Given the description of an element on the screen output the (x, y) to click on. 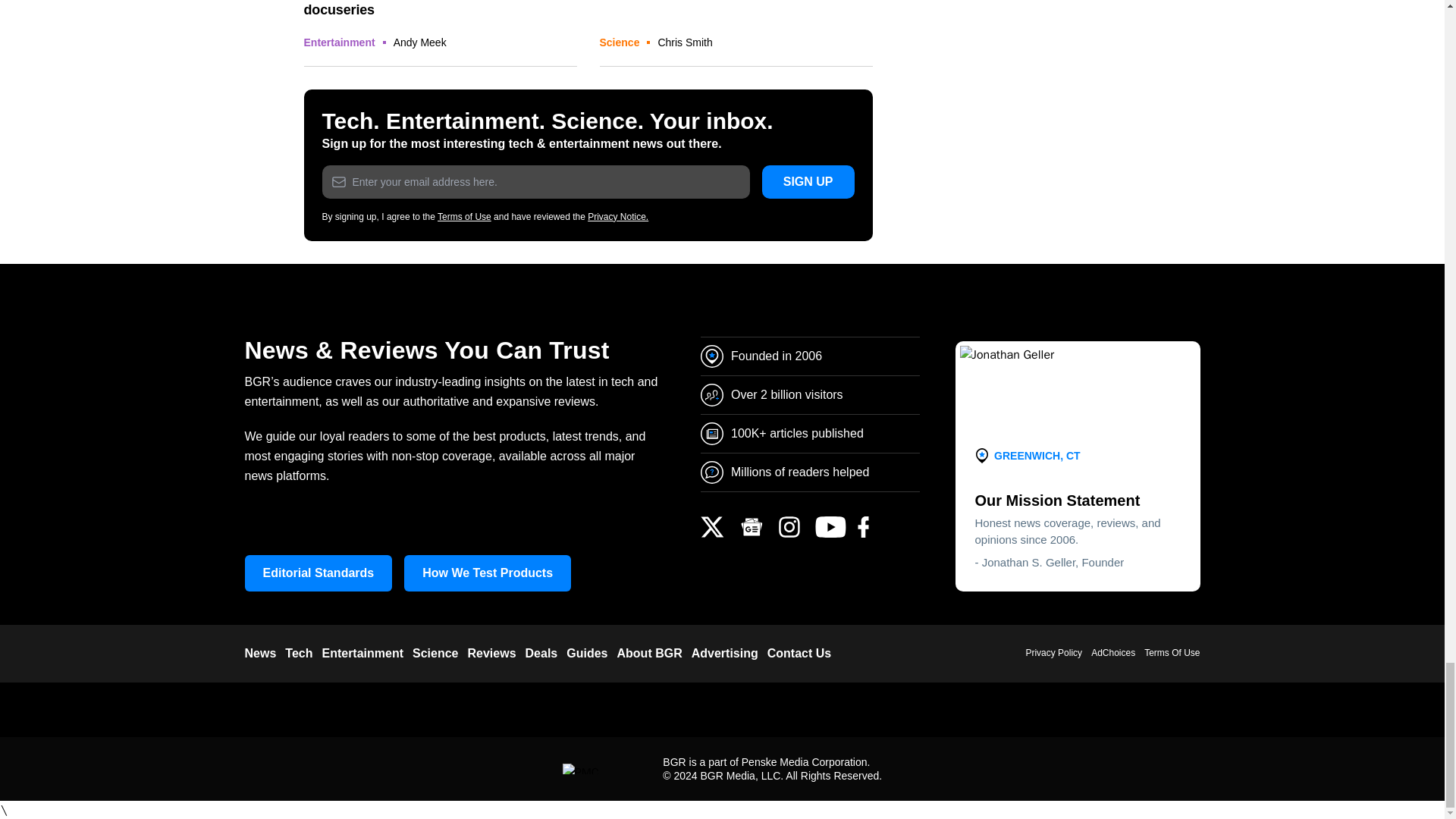
Posts by Chris Smith (684, 42)
Posts by Andy Meek (419, 42)
